Given the description of an element on the screen output the (x, y) to click on. 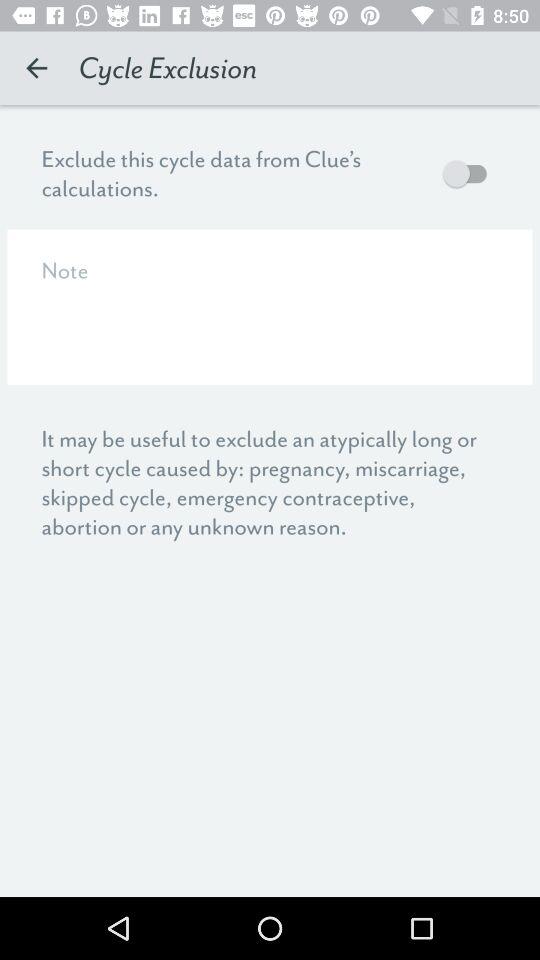
toggle exclude data (469, 173)
